Given the description of an element on the screen output the (x, y) to click on. 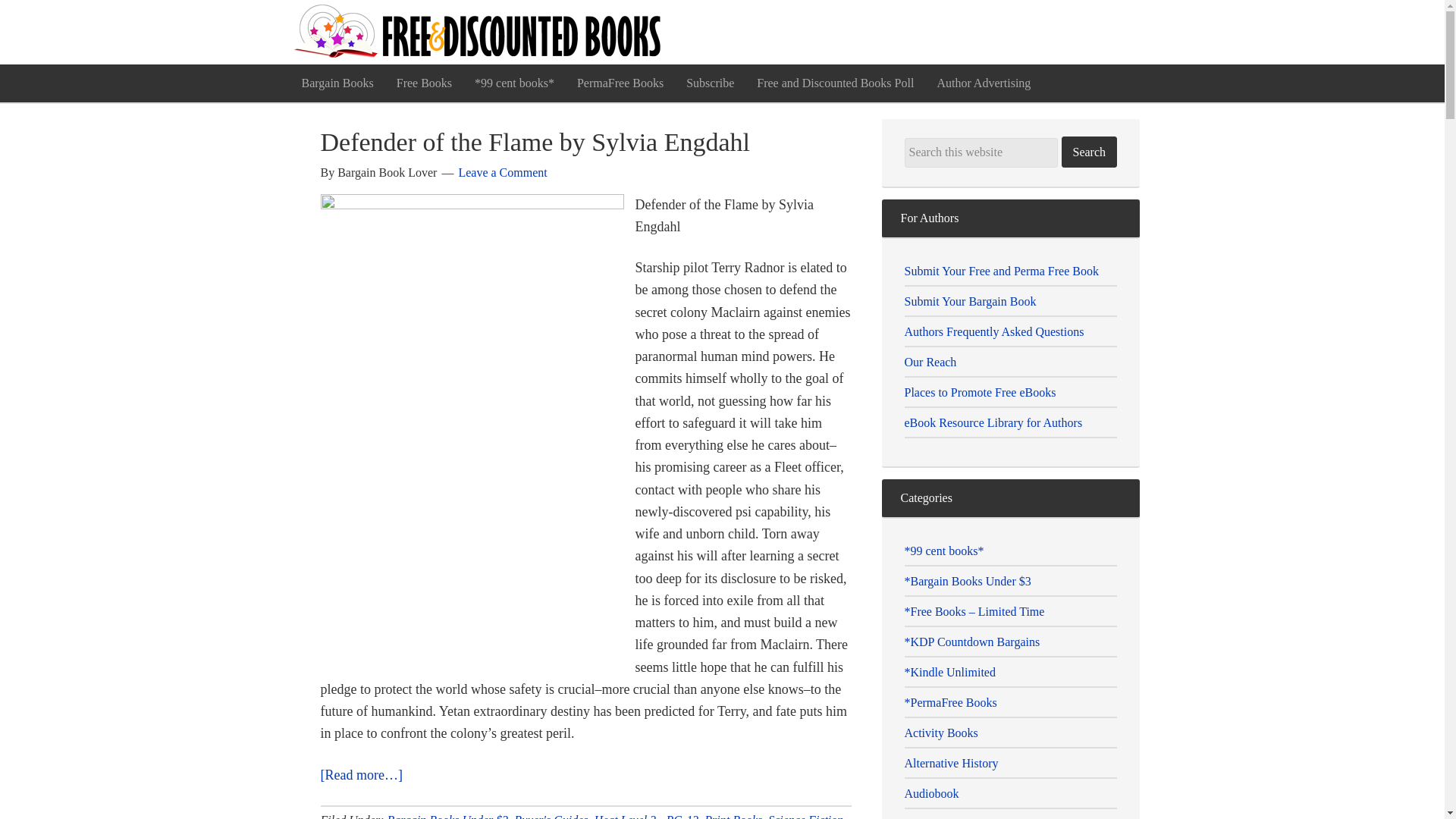
Search (1089, 151)
Heat Level 3 - PG-13 (646, 816)
Free Books (424, 83)
Print Books (732, 816)
Search (1089, 151)
Science Fiction (805, 816)
Defender of the Flame by Sylvia Engdahl (534, 141)
Free and Discounted Books Poll (834, 83)
PermaFree Books (620, 83)
Author Advertising (983, 83)
